Given the description of an element on the screen output the (x, y) to click on. 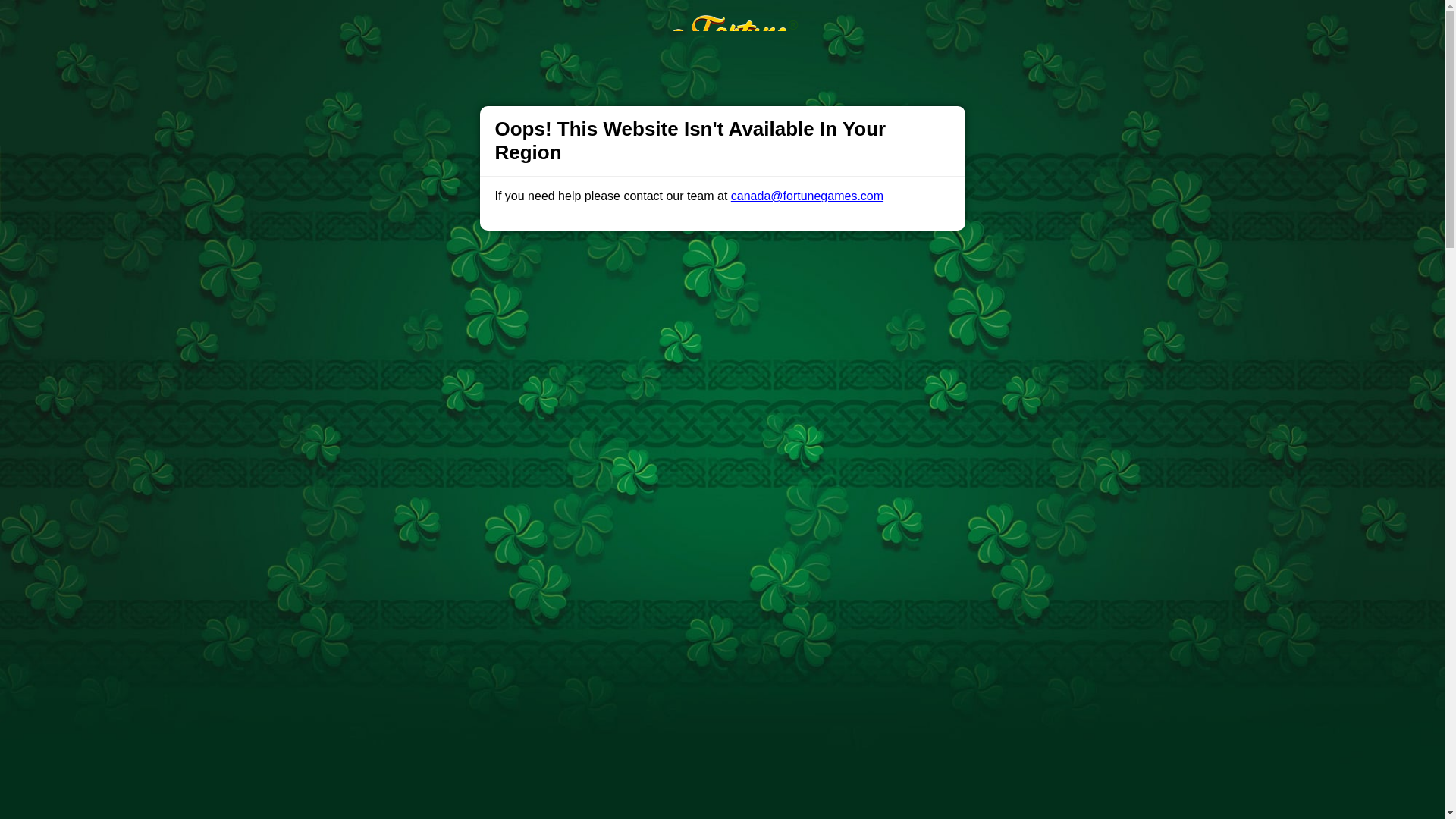
Trophies (457, 26)
Login (963, 26)
Join Now (1054, 26)
Promotions (526, 26)
All Games (600, 26)
Go Back (381, 104)
